Given the description of an element on the screen output the (x, y) to click on. 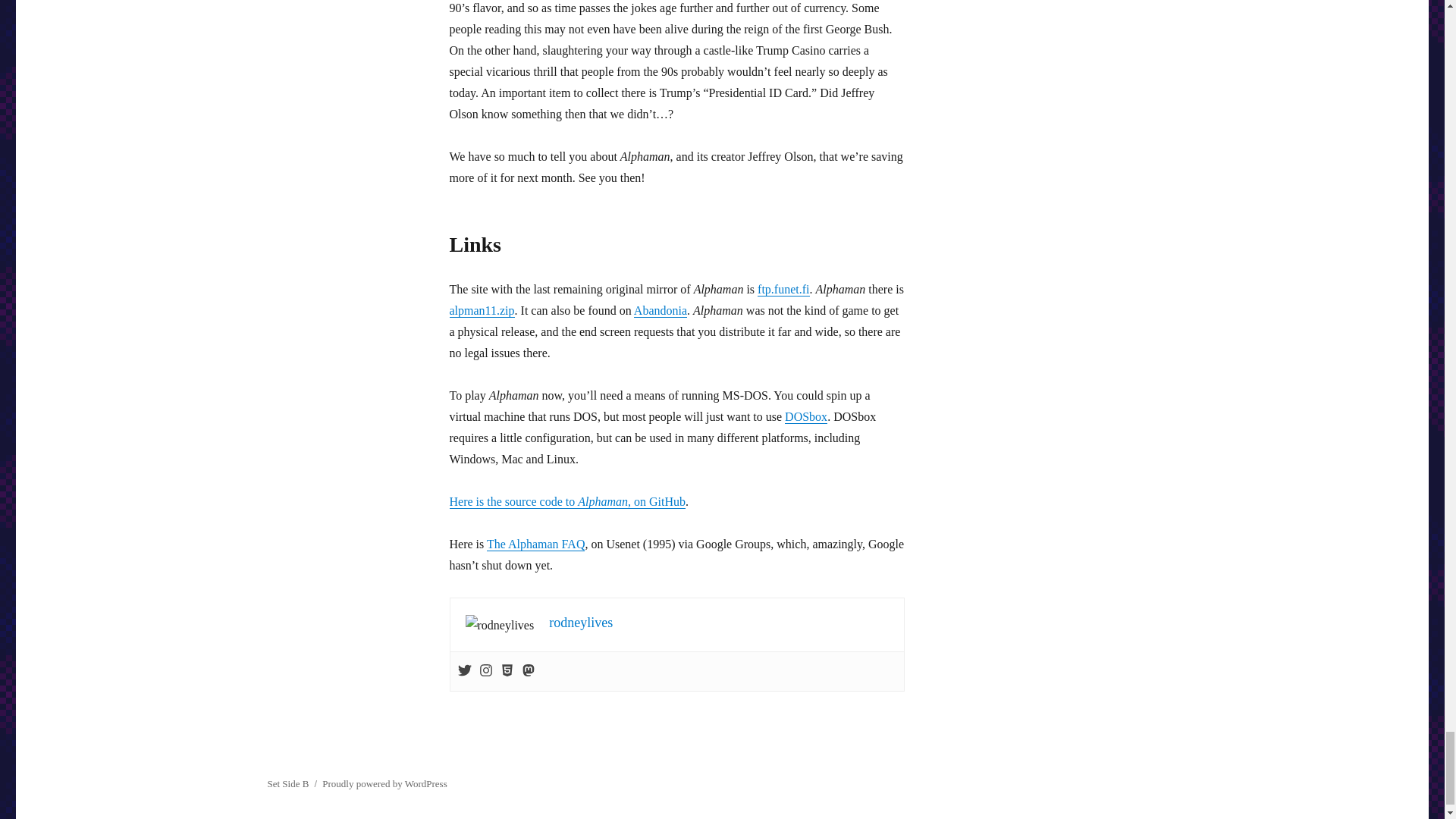
rodneylives (580, 622)
Here is the source code to Alphaman, on GitHub (566, 501)
DOSbox (805, 416)
Abandonia (660, 309)
The Alphaman FAQ (535, 543)
alpman11.zip (480, 309)
ftp.funet.fi (783, 288)
